Given the description of an element on the screen output the (x, y) to click on. 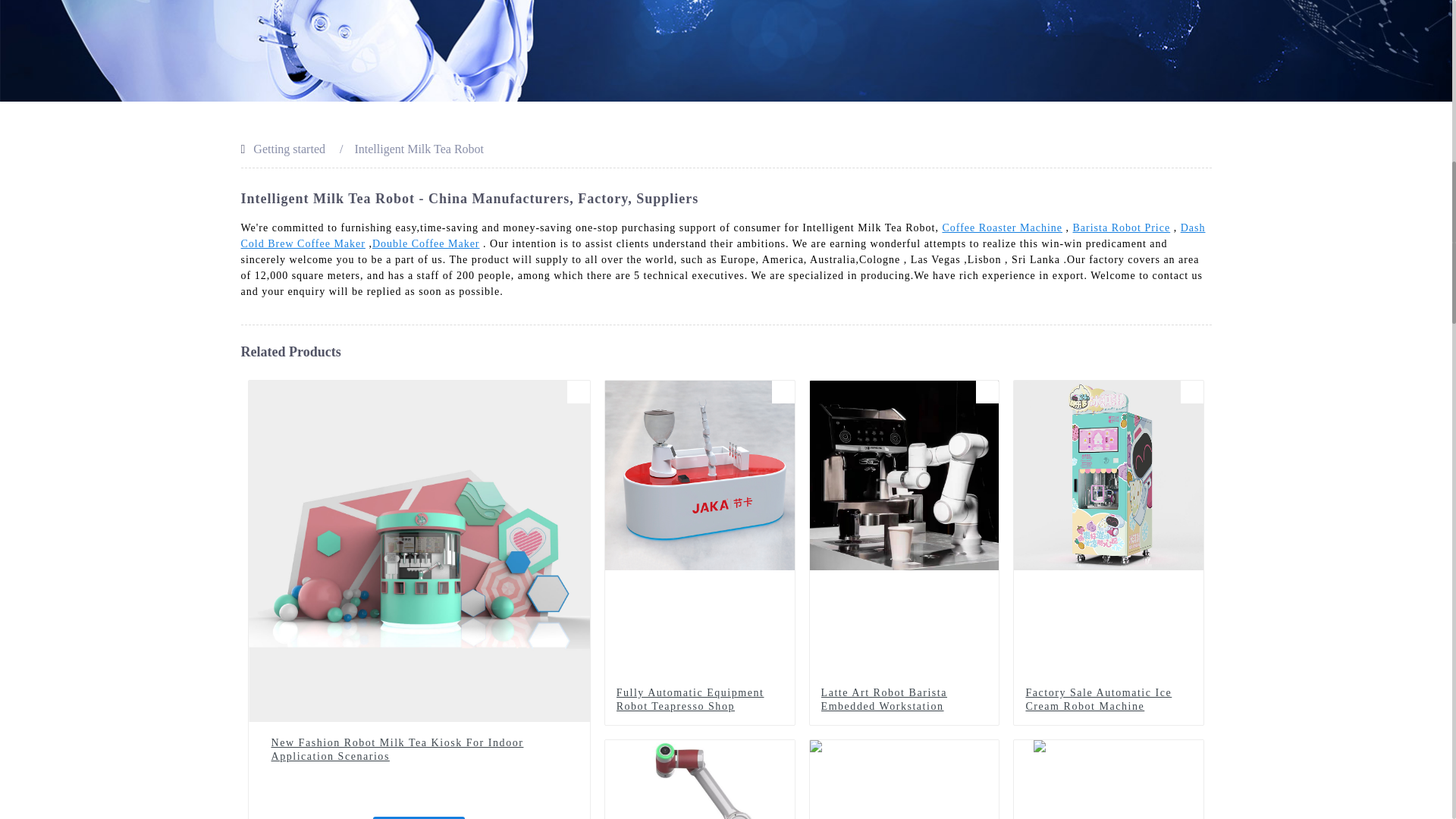
Read More (418, 817)
Latte Art Robot Barista Embedded Workstation (903, 565)
Fully Automatic Equipment Robot Teapresso Shop (699, 699)
Latte Art Robot Barista Embedded Workstation (904, 699)
Intelligent Milk Tea Robot (418, 148)
Fully Automatic Equipment Robot Teapresso Shop (699, 699)
Double Coffee Maker (426, 243)
Barista Robot Price (1121, 227)
Dash Cold Brew Coffee Maker (723, 235)
Latte Art Robot Barista Embedded Workstation (904, 699)
